Given the description of an element on the screen output the (x, y) to click on. 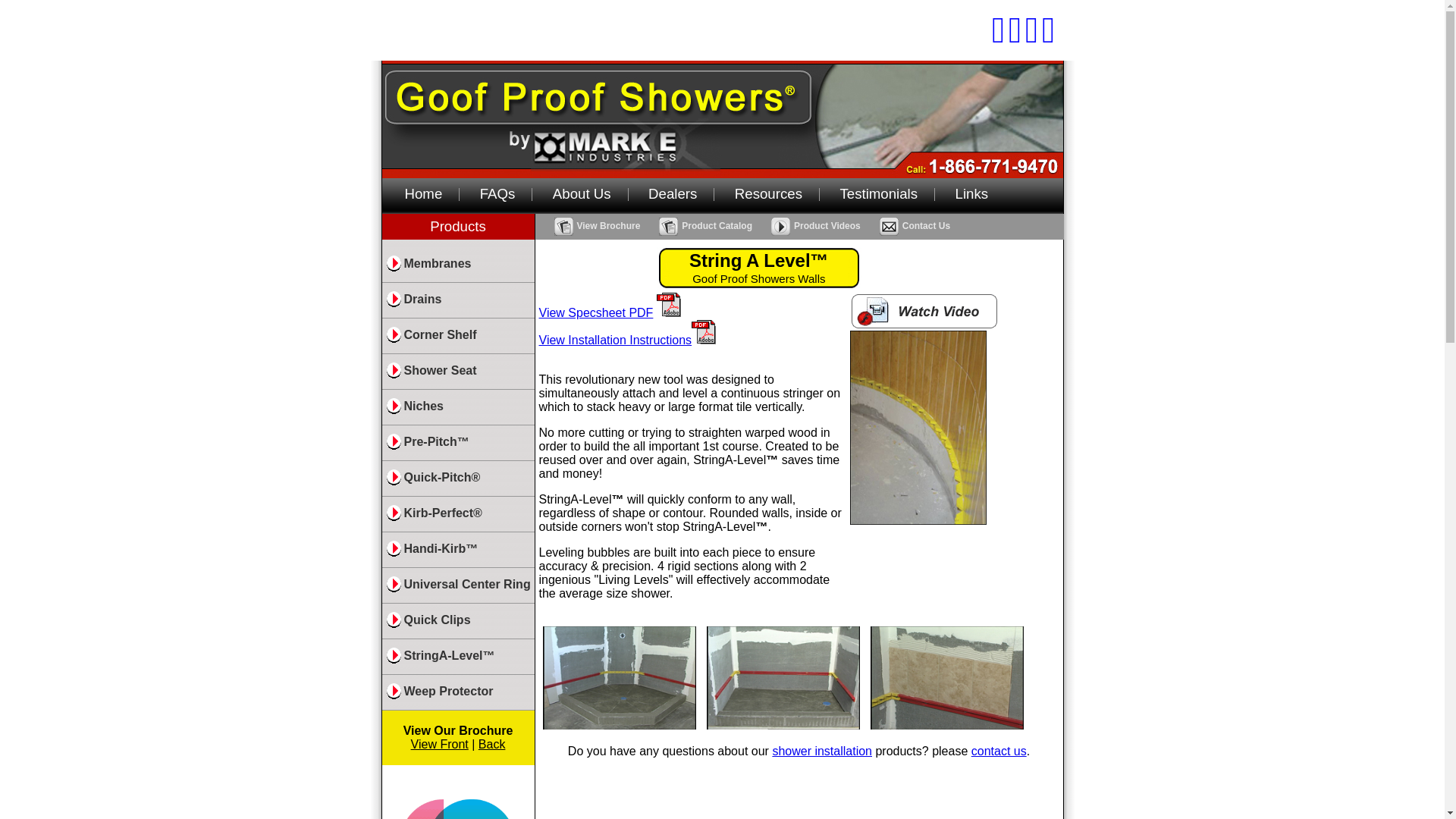
Quick Clips (457, 622)
GoogleMaps (1048, 38)
View Front (439, 744)
FAQs (497, 193)
Testimonials (878, 193)
Back (492, 744)
Product Catalog (703, 225)
About Us (582, 193)
Dealers (672, 193)
Niches (457, 408)
